Given the description of an element on the screen output the (x, y) to click on. 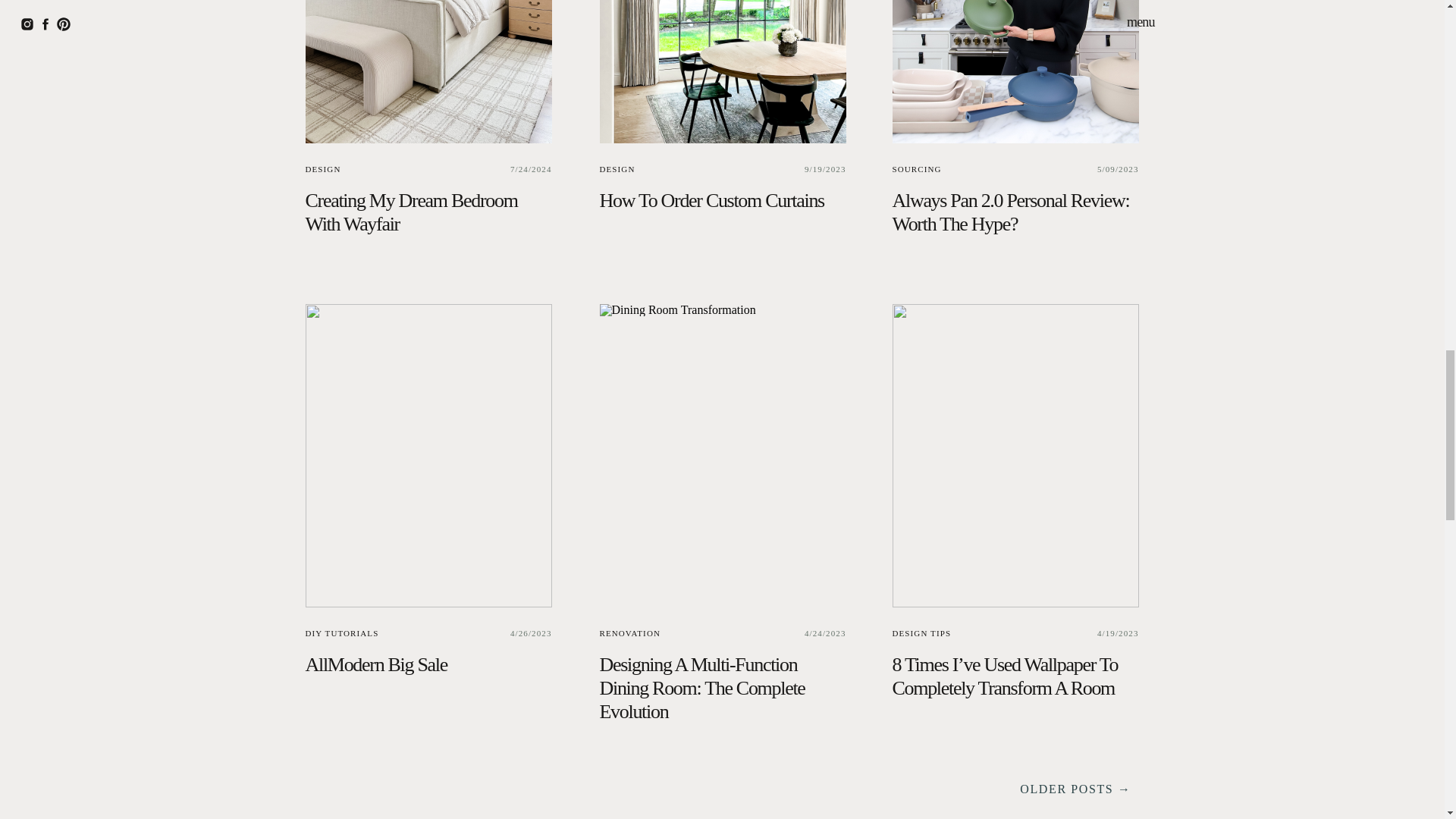
How To Order Custom Curtains (721, 71)
DESIGN (616, 168)
How To Order Custom Curtains (711, 200)
AllModern Big Sale (375, 664)
DIY TUTORIALS (341, 633)
SOURCING (915, 168)
Always Pan 2.0 Personal Review: Worth The Hype? (1014, 71)
RENOVATION (628, 633)
Always Pan 2.0 Personal Review: Worth The Hype? (1010, 212)
DESIGN (322, 168)
